Given the description of an element on the screen output the (x, y) to click on. 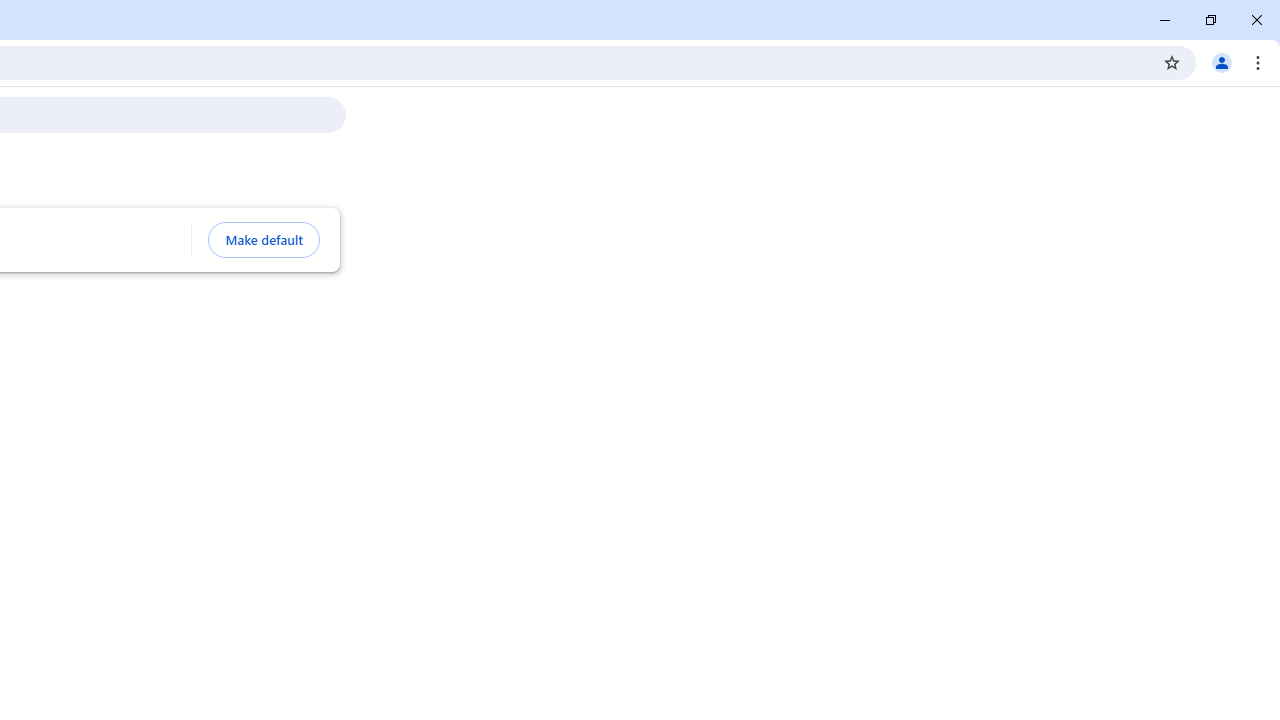
Make default (263, 240)
